Given the description of an element on the screen output the (x, y) to click on. 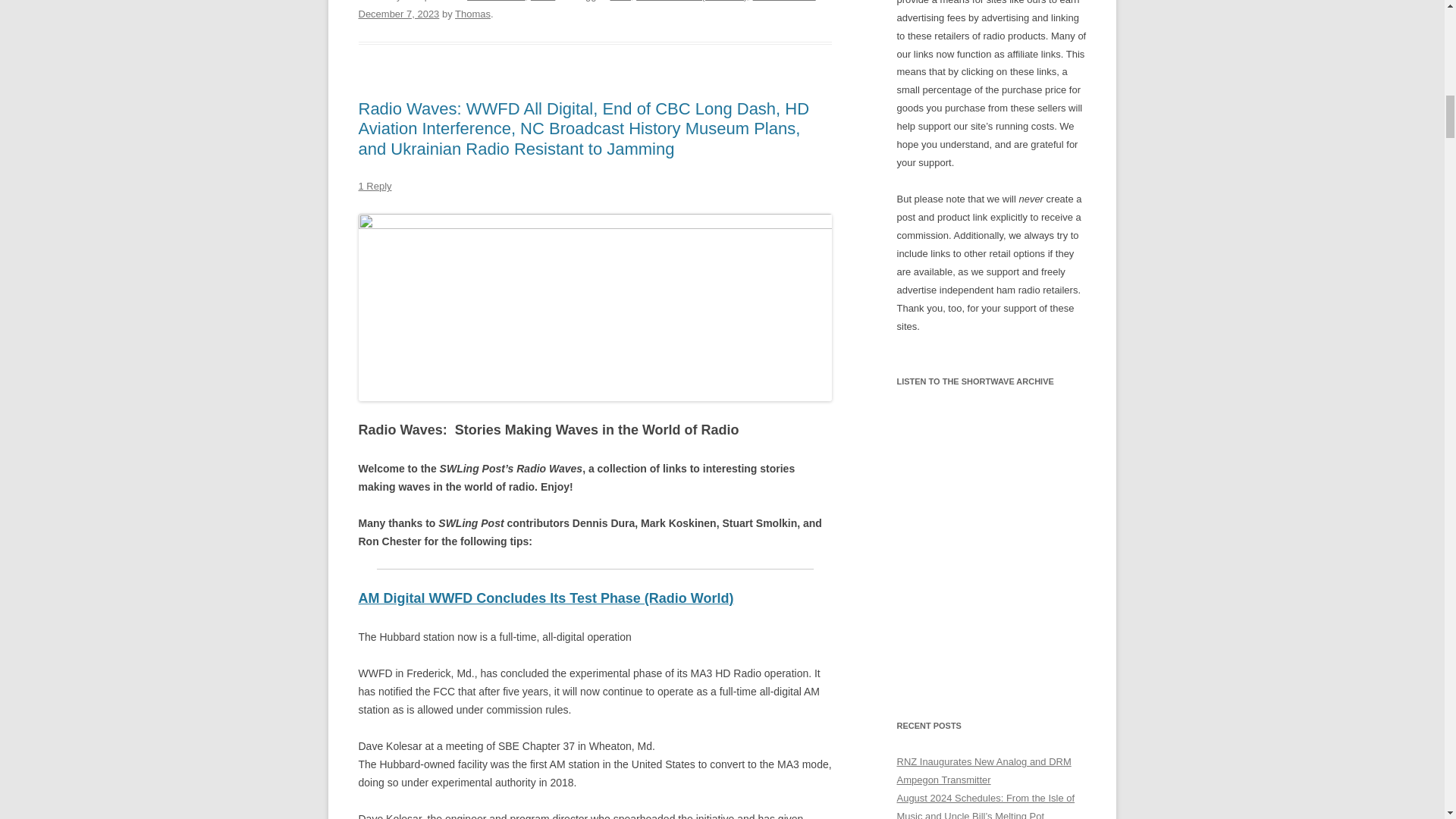
December 7, 2023 (398, 13)
Thomas (472, 13)
7:34 am (398, 13)
News (542, 0)
Radio Canada (783, 0)
View all posts by Thomas (472, 13)
CBC (620, 0)
Broadcasters (496, 0)
